Given the description of an element on the screen output the (x, y) to click on. 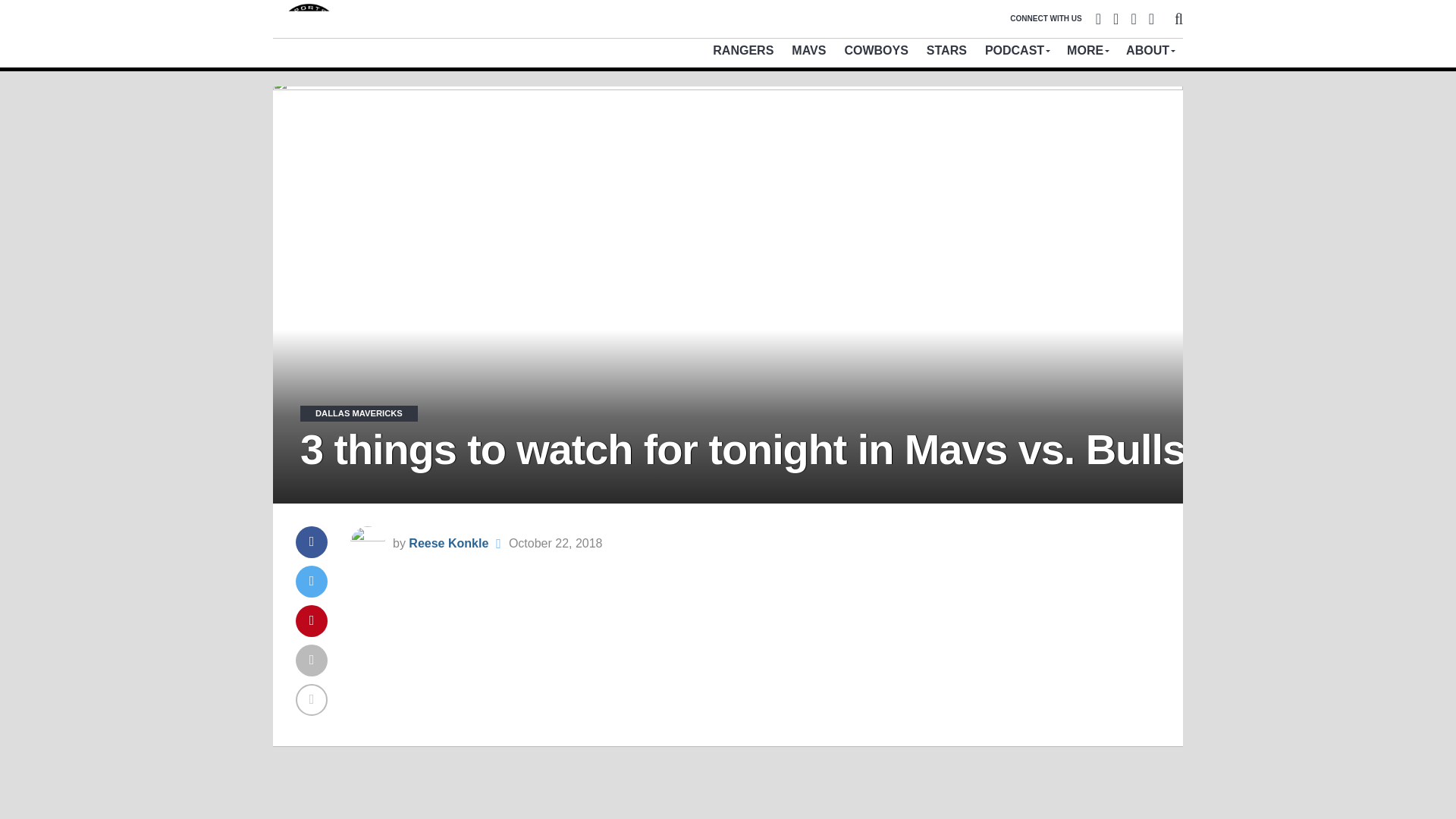
Posts by Reese Konkle (448, 543)
RANGERS (743, 50)
MAVS (808, 50)
